Given the description of an element on the screen output the (x, y) to click on. 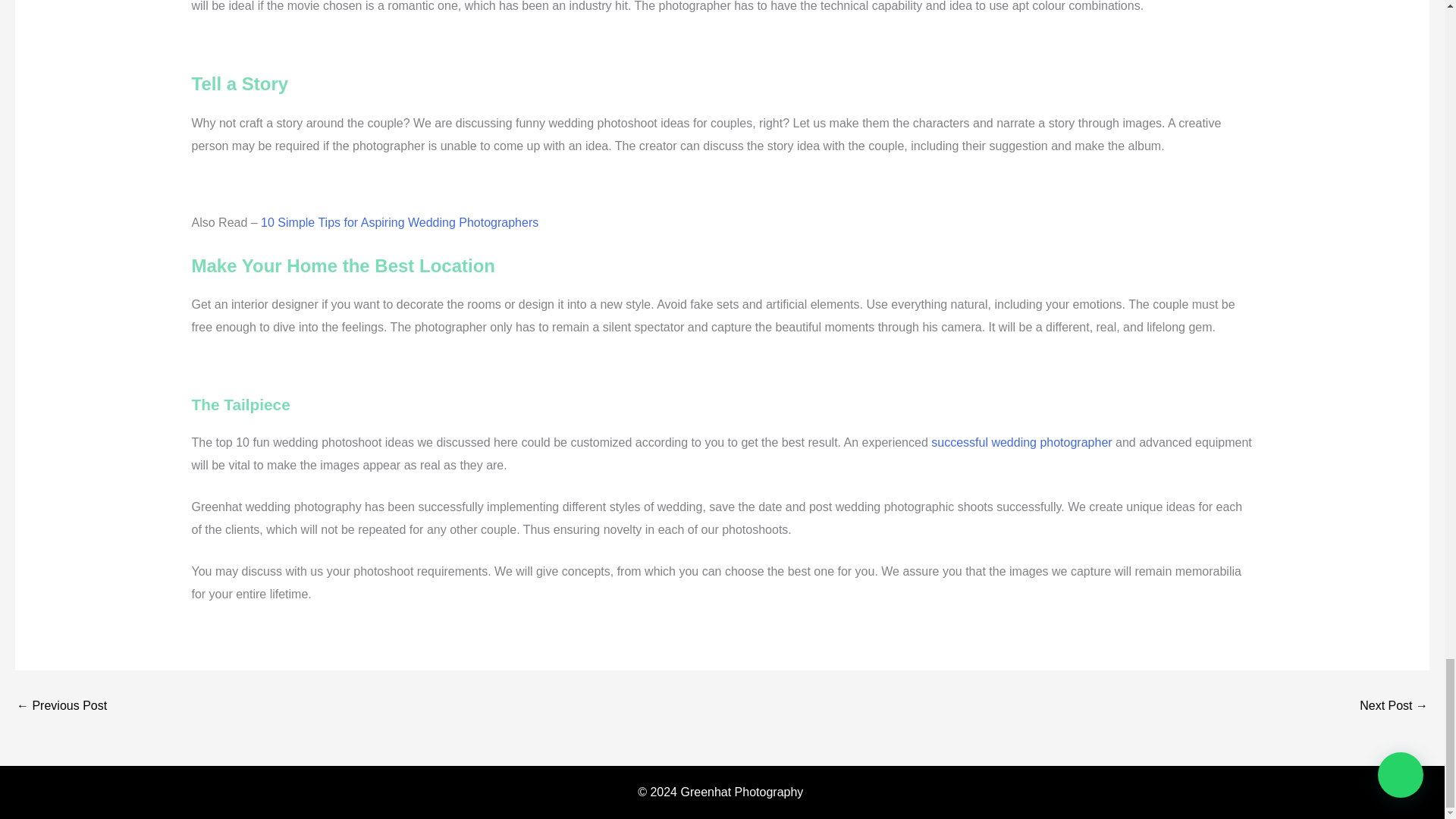
successful wedding photographer (1021, 441)
10 Simple Tips for Aspiring Wedding Photographers (61, 705)
10 Simple Tips for Aspiring Wedding Photographers (399, 222)
How To Create Beautiful and Modern Wedding Albums? (1393, 705)
